Given the description of an element on the screen output the (x, y) to click on. 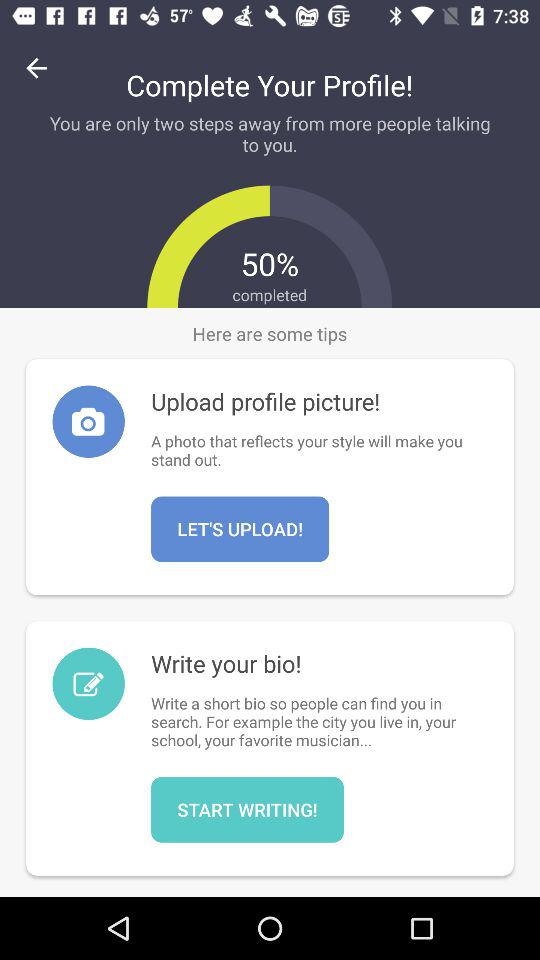
select item below write a short icon (247, 809)
